Given the description of an element on the screen output the (x, y) to click on. 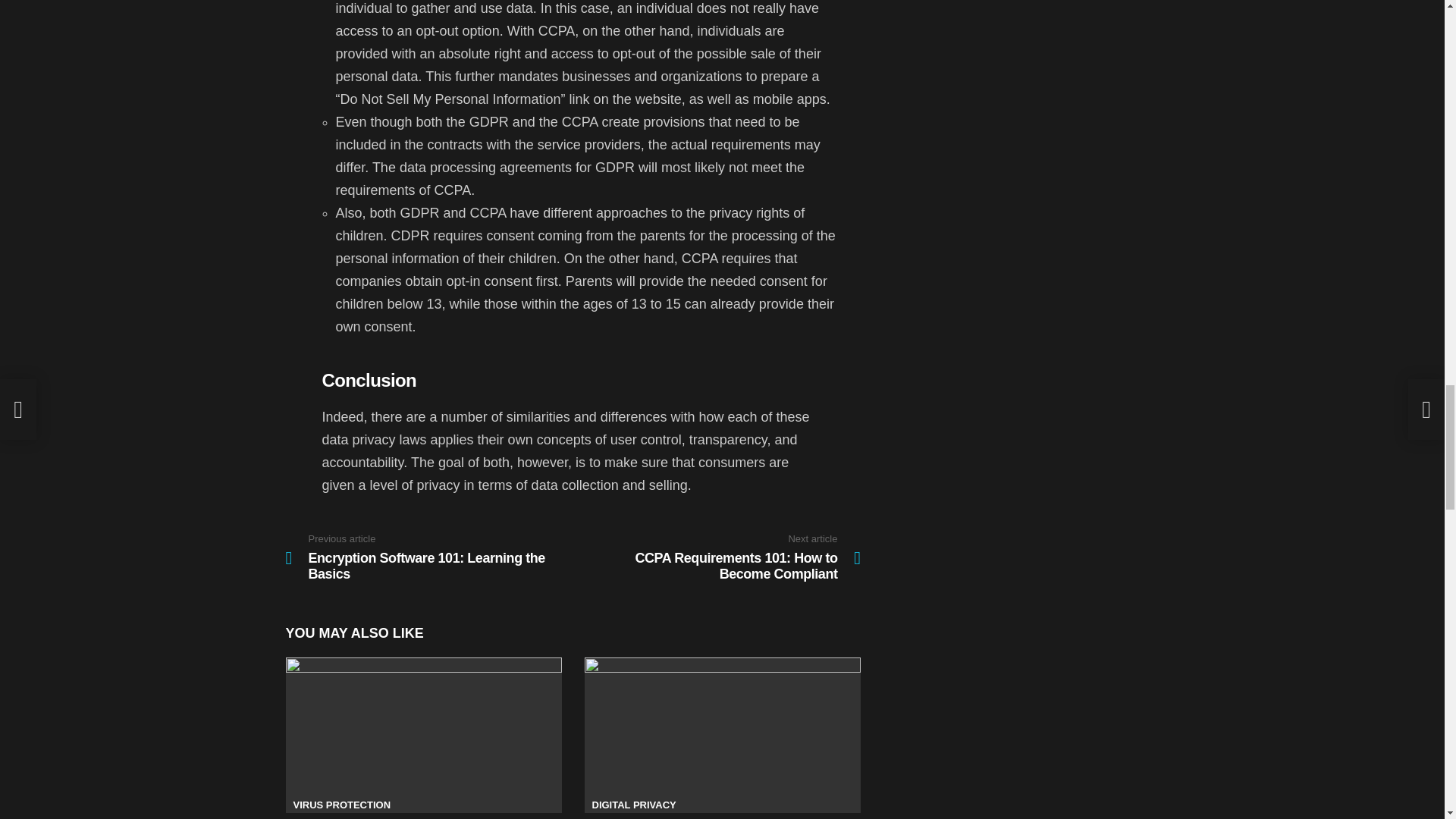
How Does a Spyware Scanner Work? (422, 735)
VIRUS PROTECTION (716, 558)
10 Useful Samples of Privacy Policy (341, 805)
DIGITAL PRIVACY (721, 735)
